Given the description of an element on the screen output the (x, y) to click on. 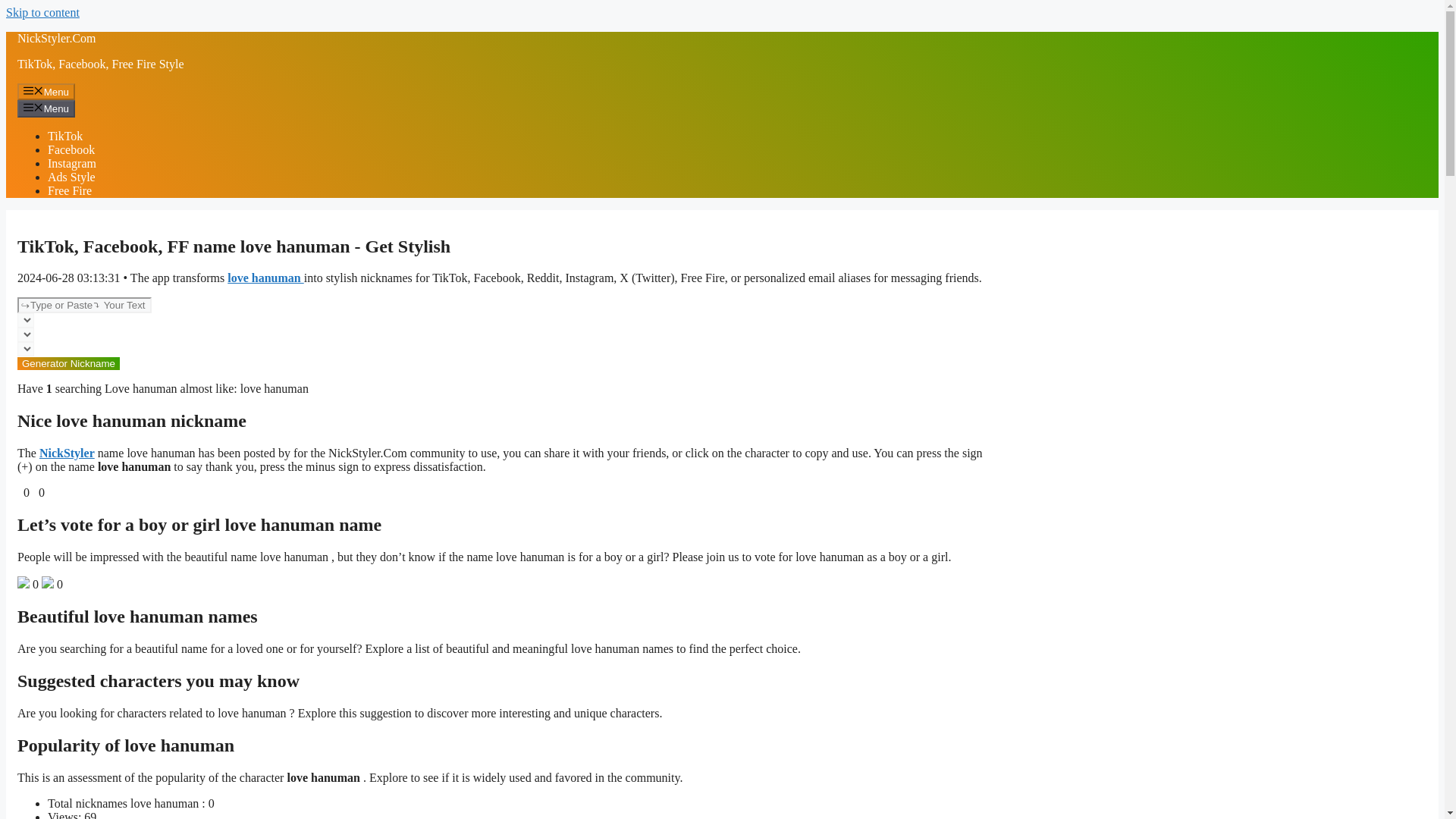
Menu (46, 91)
Menu (46, 108)
Skip to content (42, 11)
Ads Style (72, 176)
Skip to content (42, 11)
love hanuman (264, 277)
Instagram (72, 163)
NickStyler (66, 452)
TikTok (65, 135)
NickStyler.Com (56, 38)
Generator Nickname (68, 363)
Facebook (71, 149)
Free Fire (69, 190)
